Given the description of an element on the screen output the (x, y) to click on. 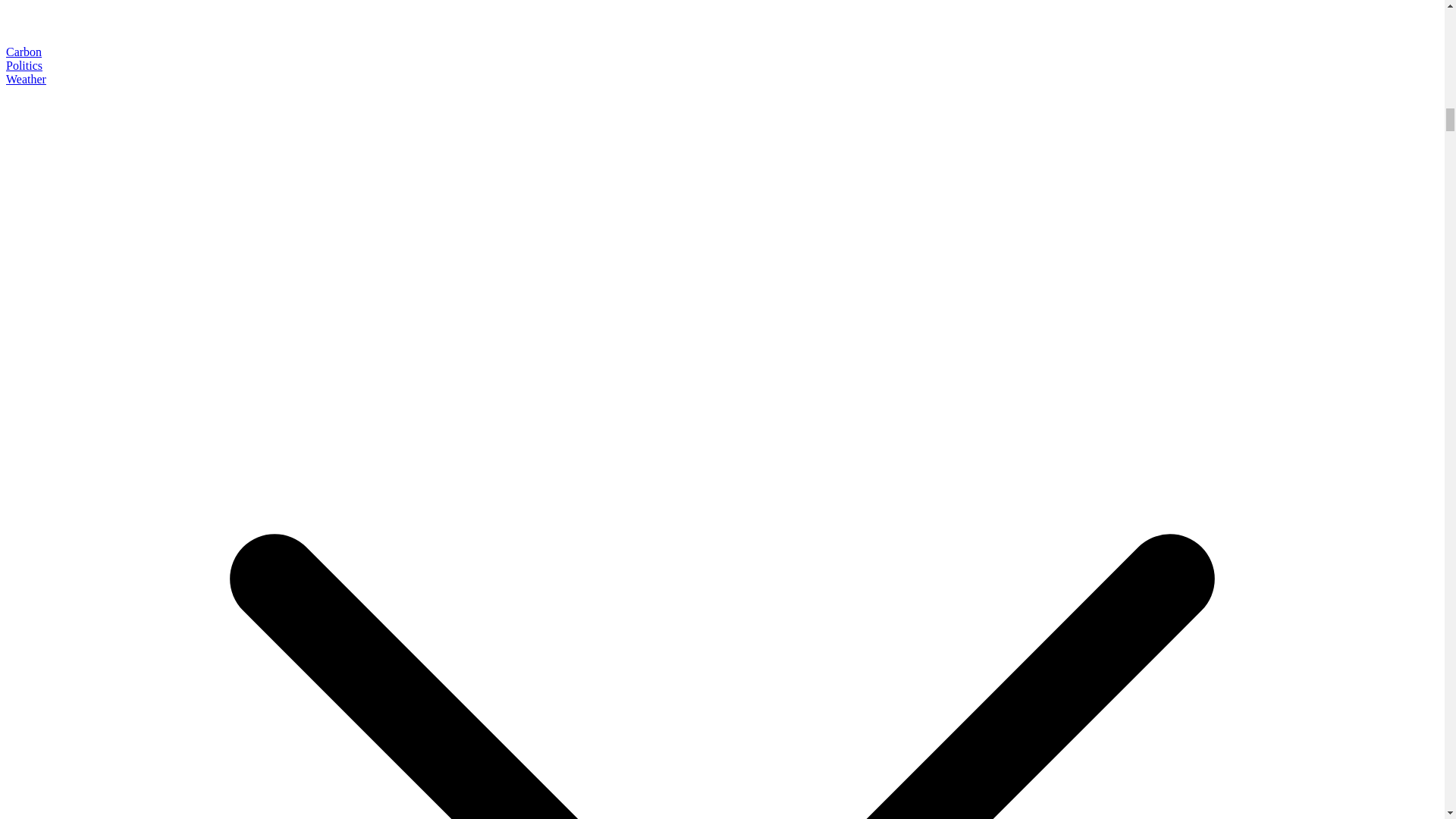
Weather (25, 78)
Politics (23, 65)
Carbon (23, 51)
